Given the description of an element on the screen output the (x, y) to click on. 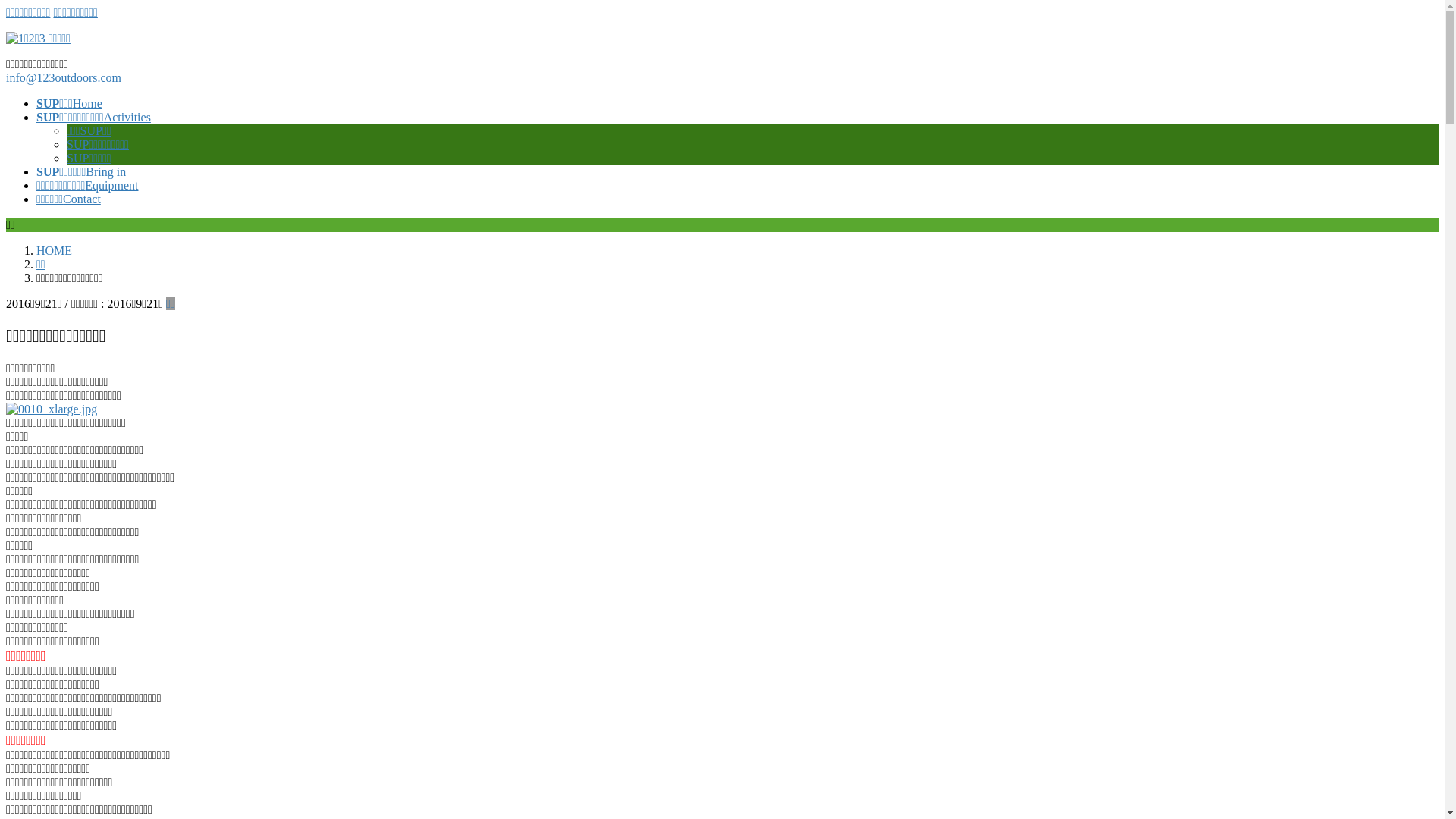
info@123outdoors.com Element type: text (63, 77)
HOME Element type: text (54, 250)
